Given the description of an element on the screen output the (x, y) to click on. 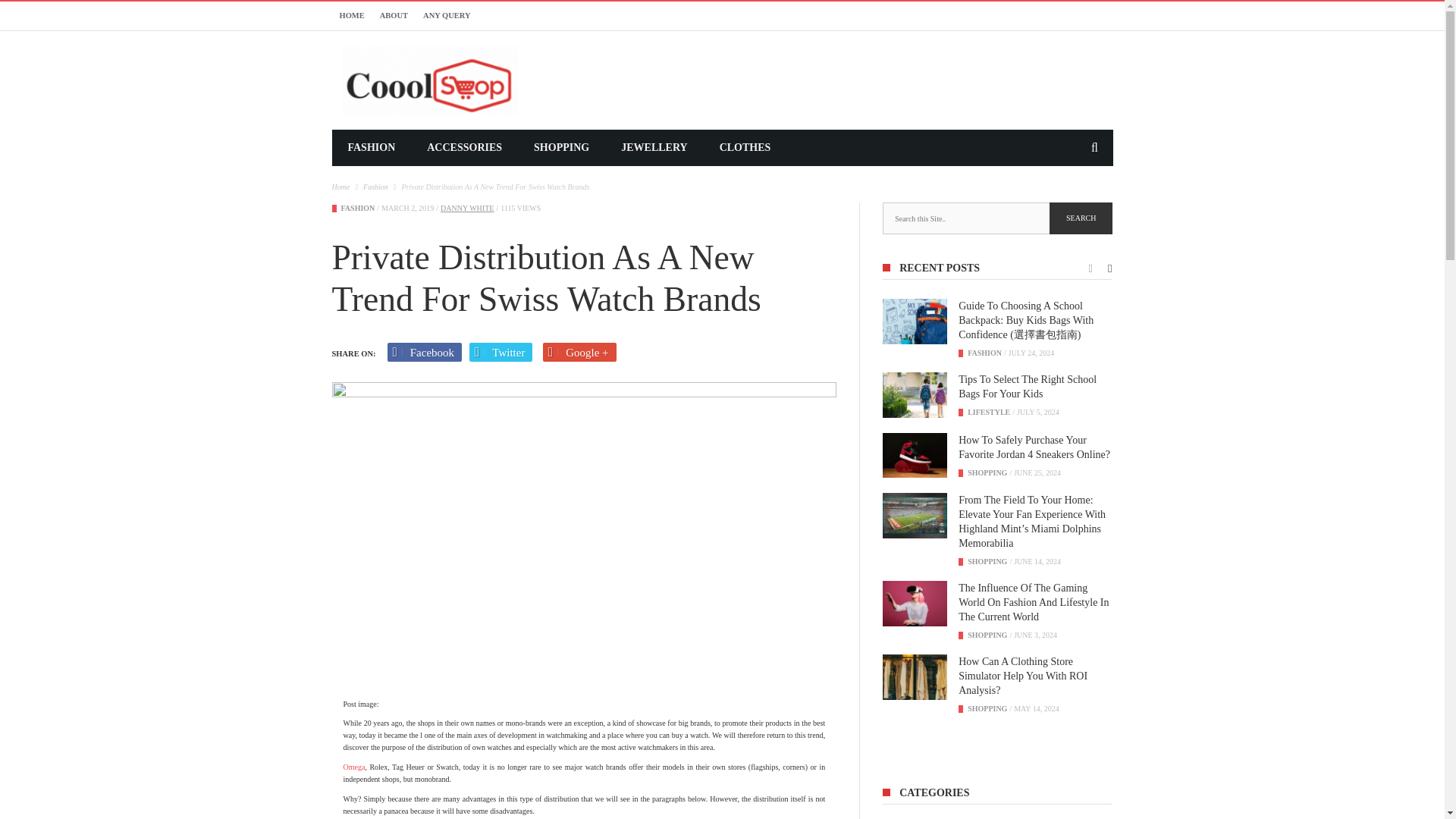
Home (340, 186)
ABOUT (393, 15)
Search (1080, 218)
ANY QUERY (446, 15)
JEWELLERY (654, 147)
Omega (353, 766)
Lifestyle (989, 411)
Fashion (984, 352)
Home (340, 186)
Tips To Select the Right School Bags for Your Kids (914, 394)
